Given the description of an element on the screen output the (x, y) to click on. 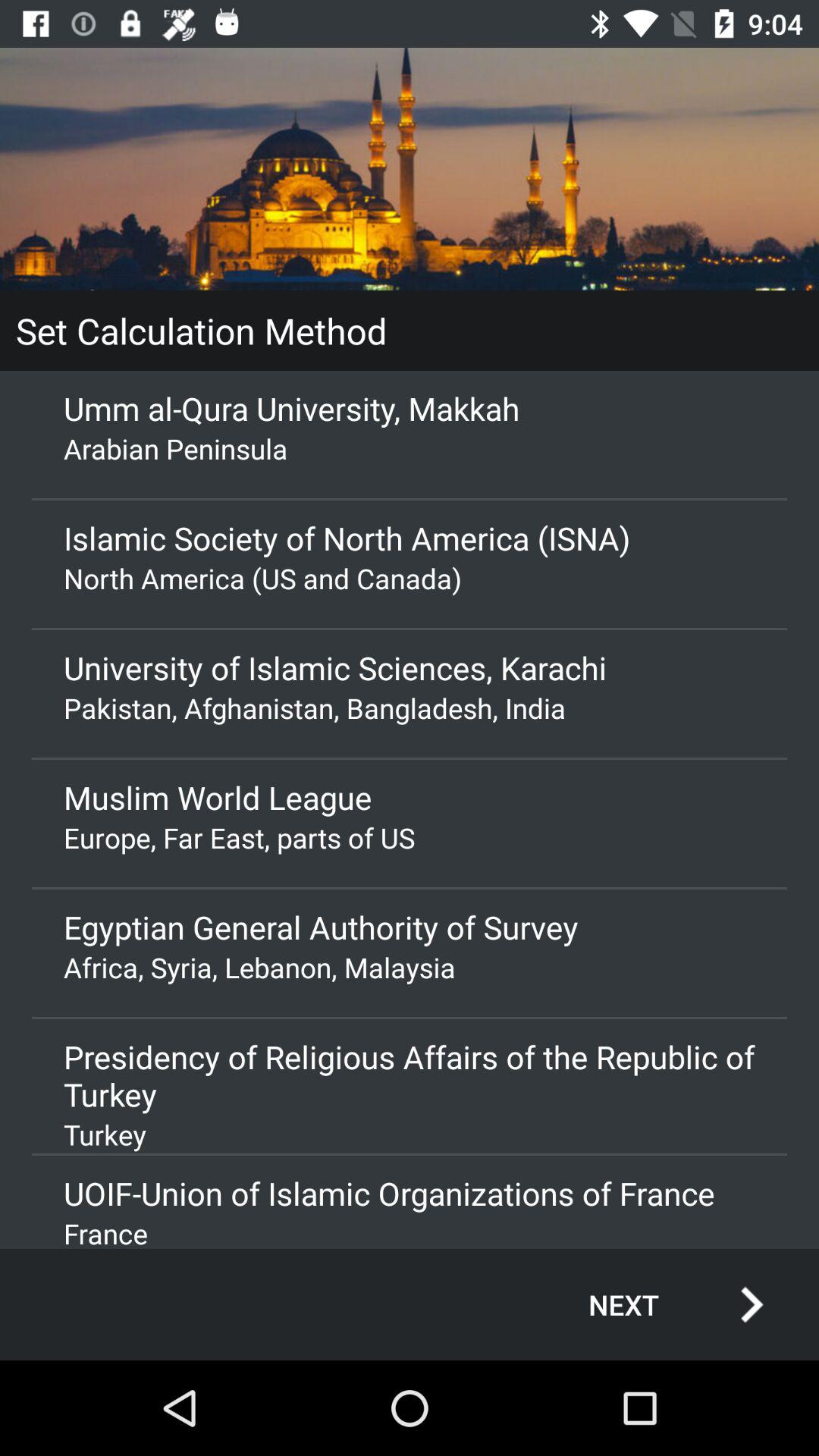
launch icon above the presidency of religious item (409, 967)
